Given the description of an element on the screen output the (x, y) to click on. 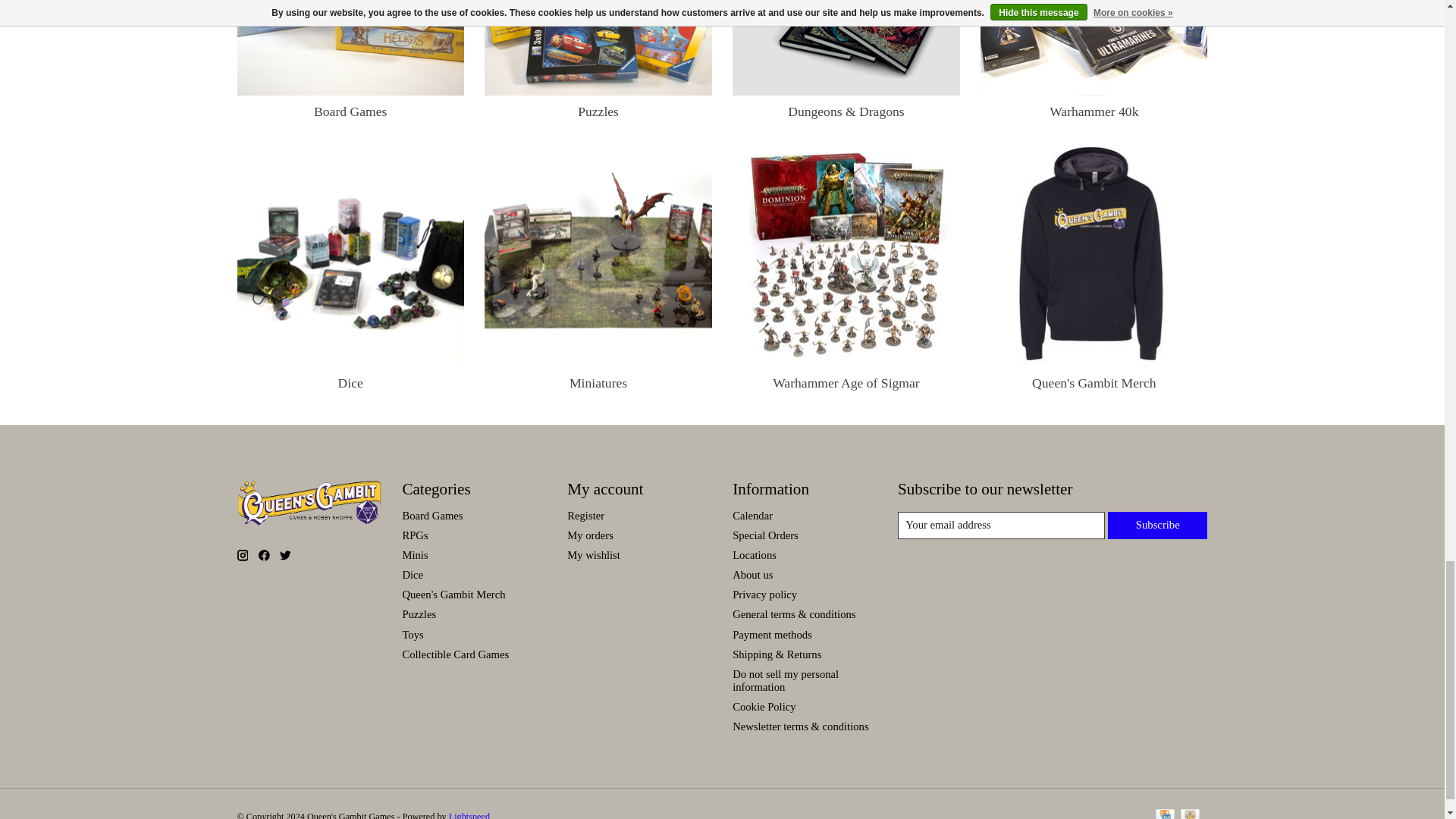
My wishlist (593, 554)
Miniatures (597, 253)
Dice (350, 253)
Warhammer 40k (1093, 47)
My orders (589, 535)
Warhammer  Age of Sigmar (845, 253)
Calendar (752, 515)
Register (585, 515)
Puzzles (597, 47)
Board Games (350, 47)
Queen's Gambit Merch (1093, 253)
